Given the description of an element on the screen output the (x, y) to click on. 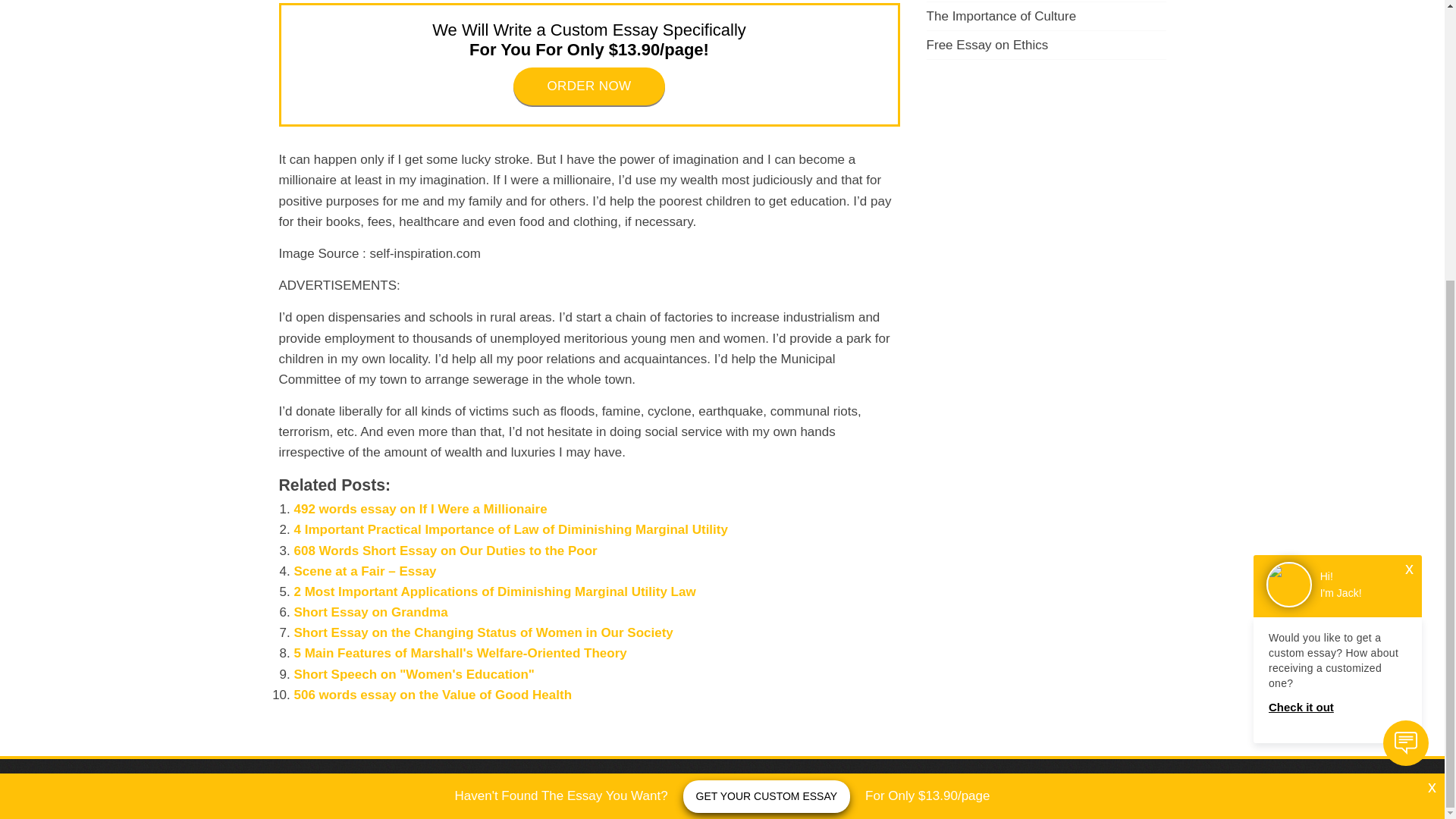
GET YOUR CUSTOM ESSAY (766, 377)
608 Words Short Essay on Our Duties to the Poor (445, 549)
492 words essay on If I Were a Millionaire (420, 509)
Short Essay on the Changing Status of Women in Our Society (483, 632)
The Importance of Culture (1000, 16)
Short Essay on Grandma (371, 612)
unlocking the future (759, 789)
ORDER NOW (589, 86)
